Given the description of an element on the screen output the (x, y) to click on. 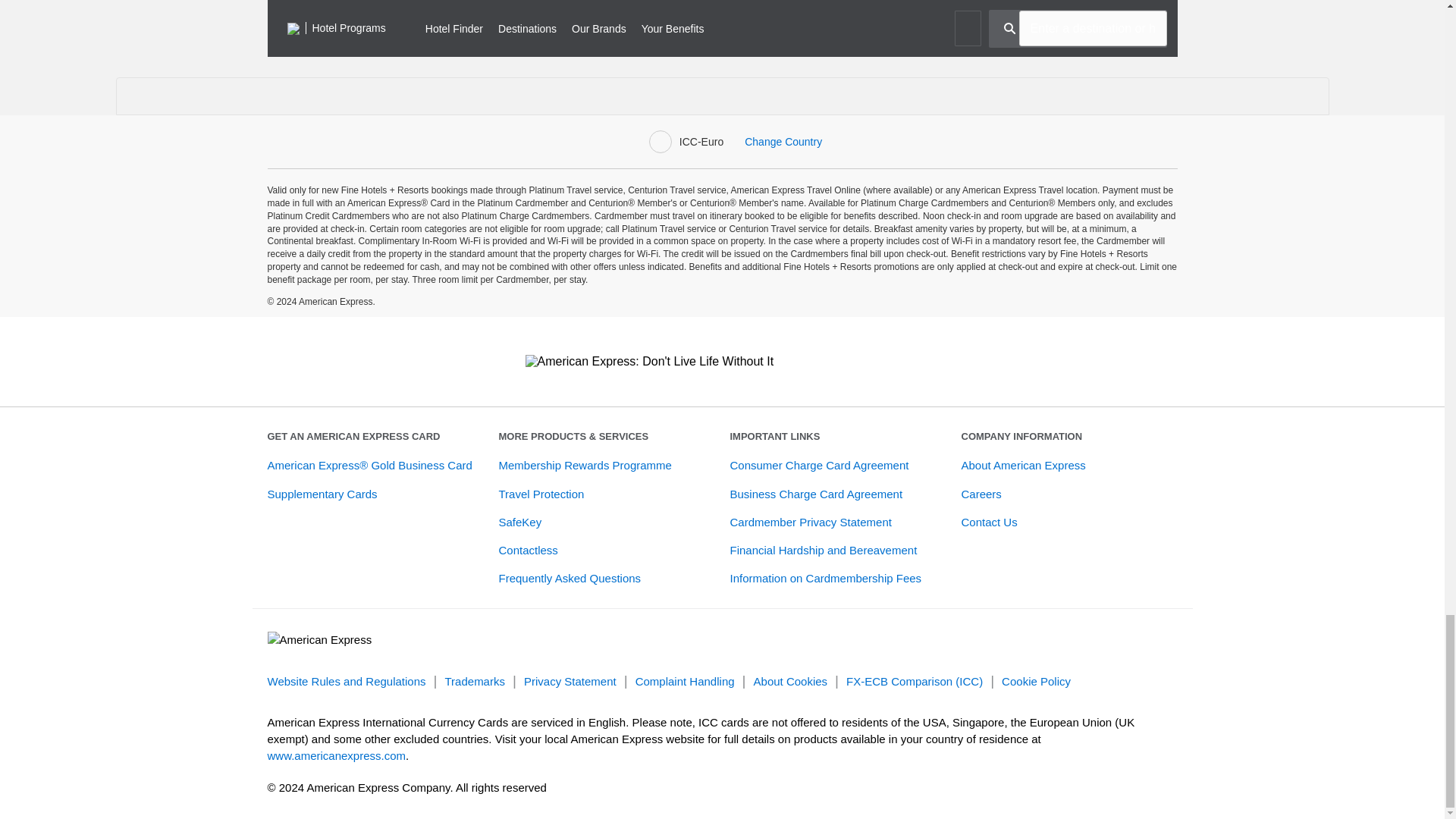
Membership Rewards Programme (585, 464)
Travel Protection (542, 493)
Business Charge Card Agreement (815, 493)
About American Express (1023, 464)
Cardmember Privacy Statement (810, 521)
Contact Us (988, 521)
Careers (980, 493)
Information on Cardmembership Fees (825, 577)
Frequently Asked Questions (570, 577)
Supplementary Cards (321, 493)
